Given the description of an element on the screen output the (x, y) to click on. 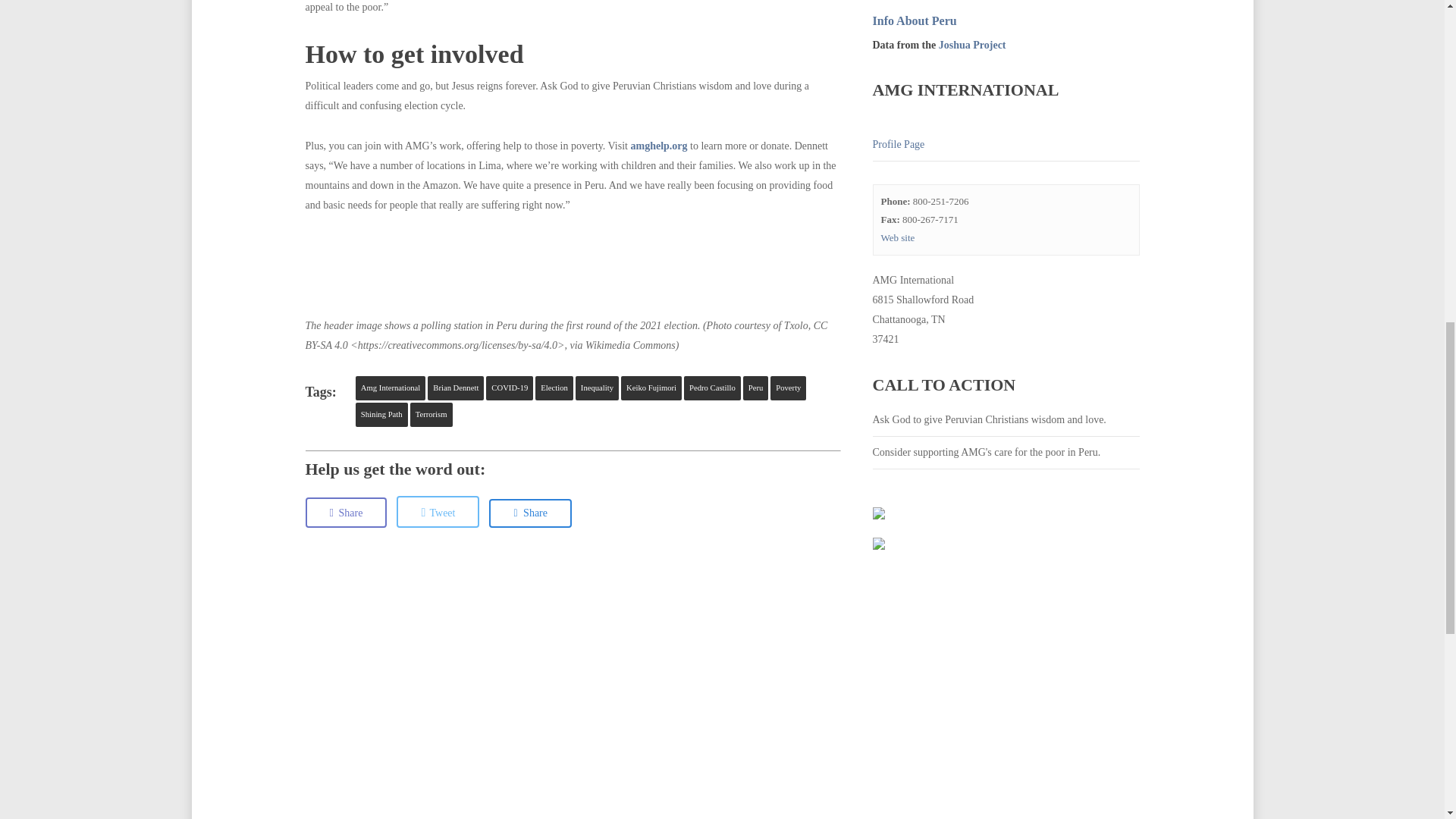
Amg International (390, 387)
Share this (530, 512)
Brian Dennett (455, 387)
amghelp.org (658, 145)
Tweet this (437, 511)
Share this (345, 512)
Election (554, 387)
COVID-19 (509, 387)
